Given the description of an element on the screen output the (x, y) to click on. 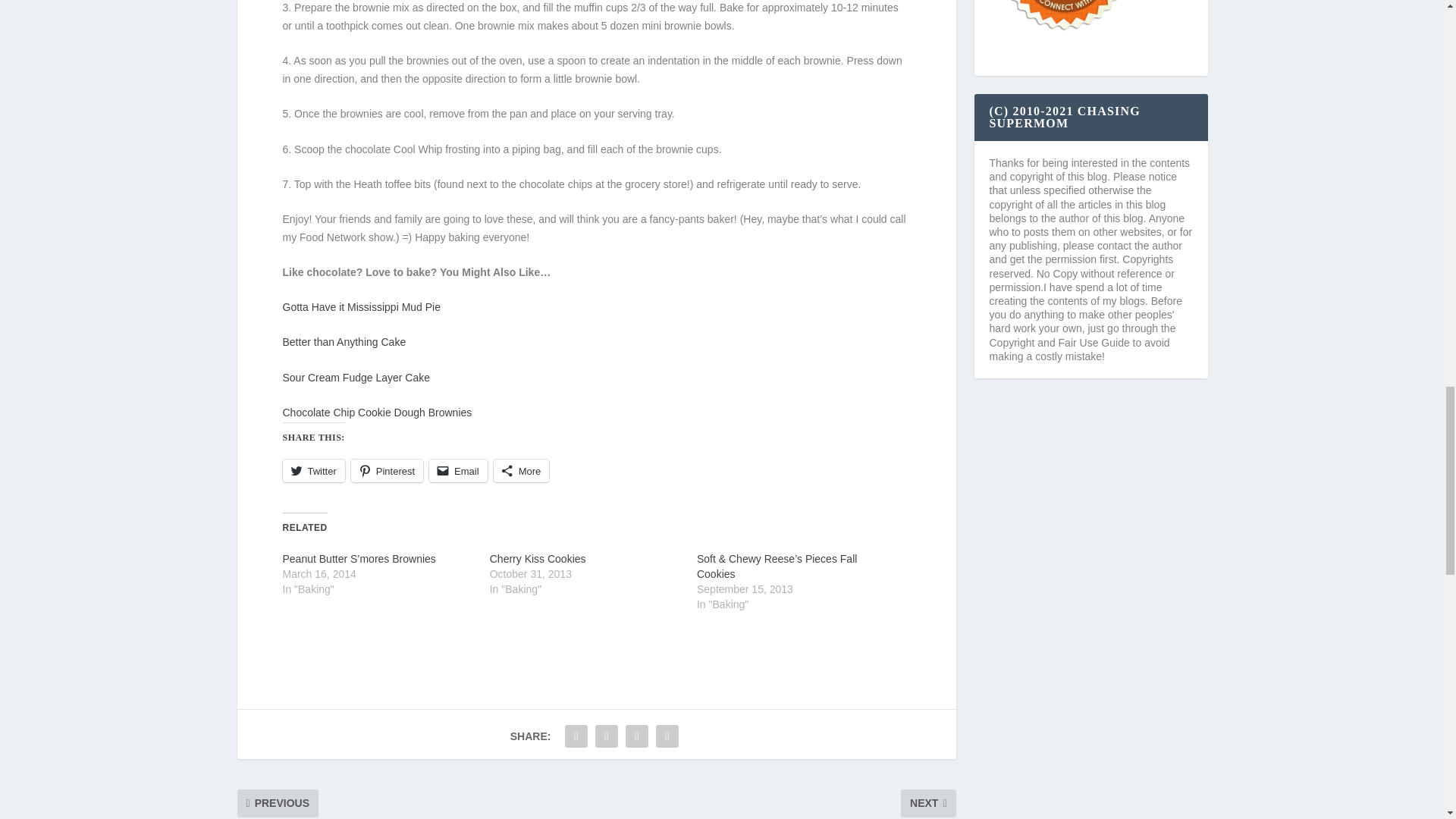
Click to share on Pinterest (386, 470)
Share "Chocolate  Brownie Bites" via Pinterest (636, 736)
Click to email a link to a friend (458, 470)
Share "Chocolate  Brownie Bites" via Twitter (606, 736)
Share "Chocolate  Brownie Bites" via Stumbleupon (667, 736)
Cherry Kiss Cookies (537, 558)
Share "Chocolate  Brownie Bites" via Facebook (575, 736)
Click to share on Twitter (312, 470)
